Given the description of an element on the screen output the (x, y) to click on. 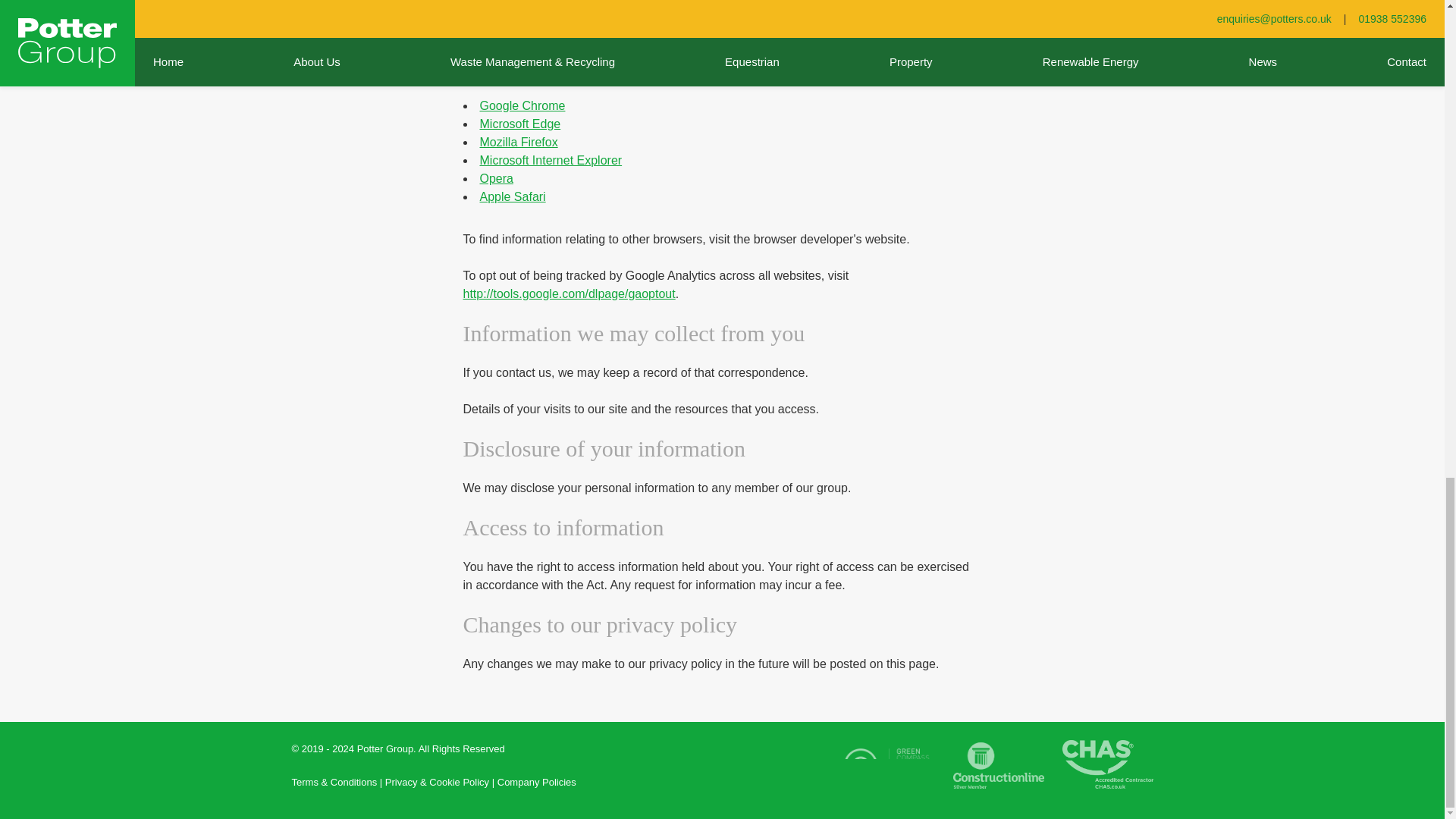
Google Chrome (521, 105)
Company Policies (536, 782)
Mozilla Firefox (518, 141)
Apple Safari (511, 196)
www.aboutcookies.org (523, 32)
Opera (495, 178)
Microsoft Edge (519, 123)
Microsoft Internet Explorer (550, 160)
